Given the description of an element on the screen output the (x, y) to click on. 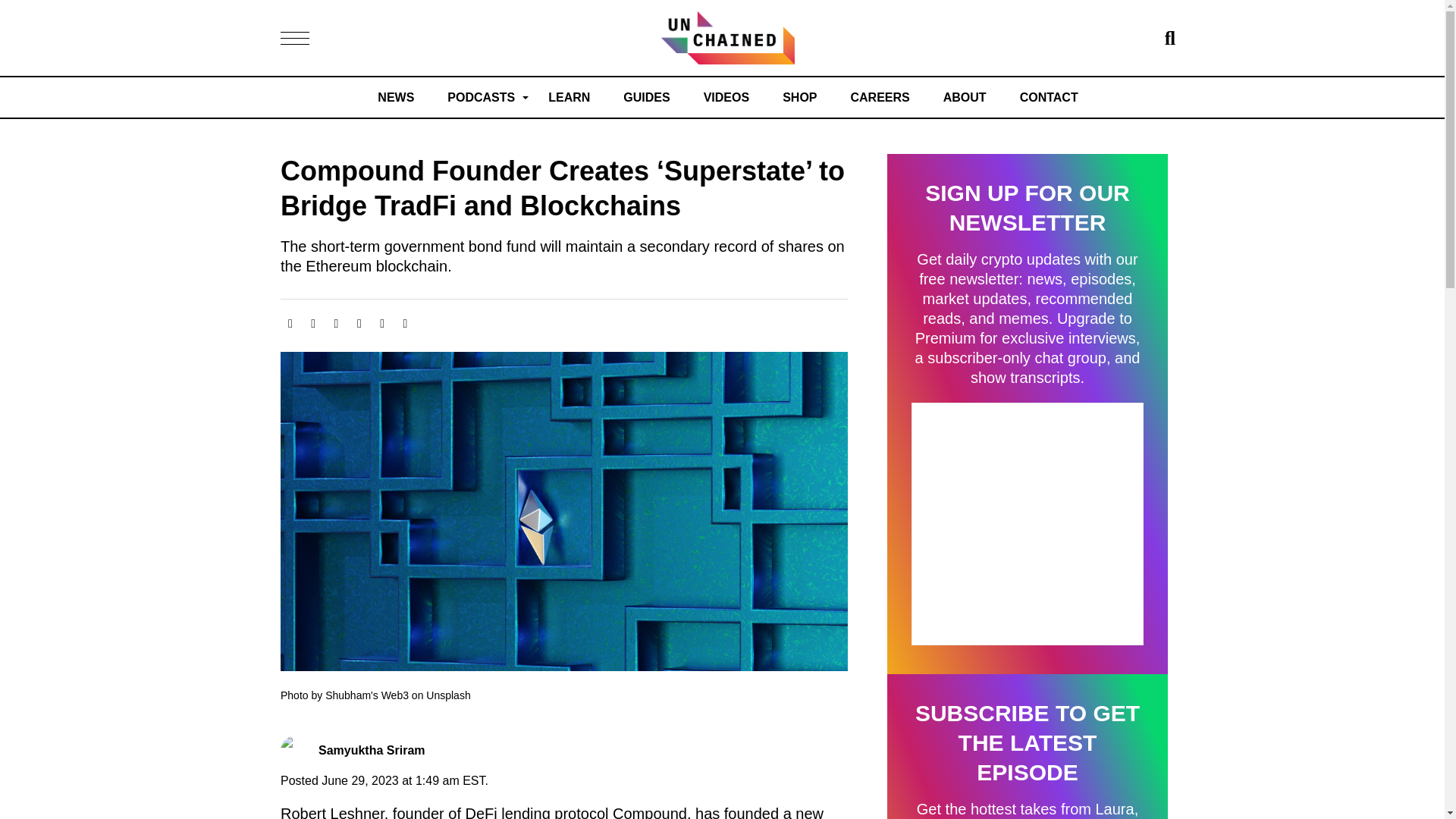
NEWS (395, 97)
VIDEOS (726, 97)
CAREERS (880, 97)
PODCASTS (480, 97)
LEARN (568, 97)
SHOP (799, 97)
GUIDES (646, 97)
CONTACT (1049, 97)
ABOUT (965, 97)
